Given the description of an element on the screen output the (x, y) to click on. 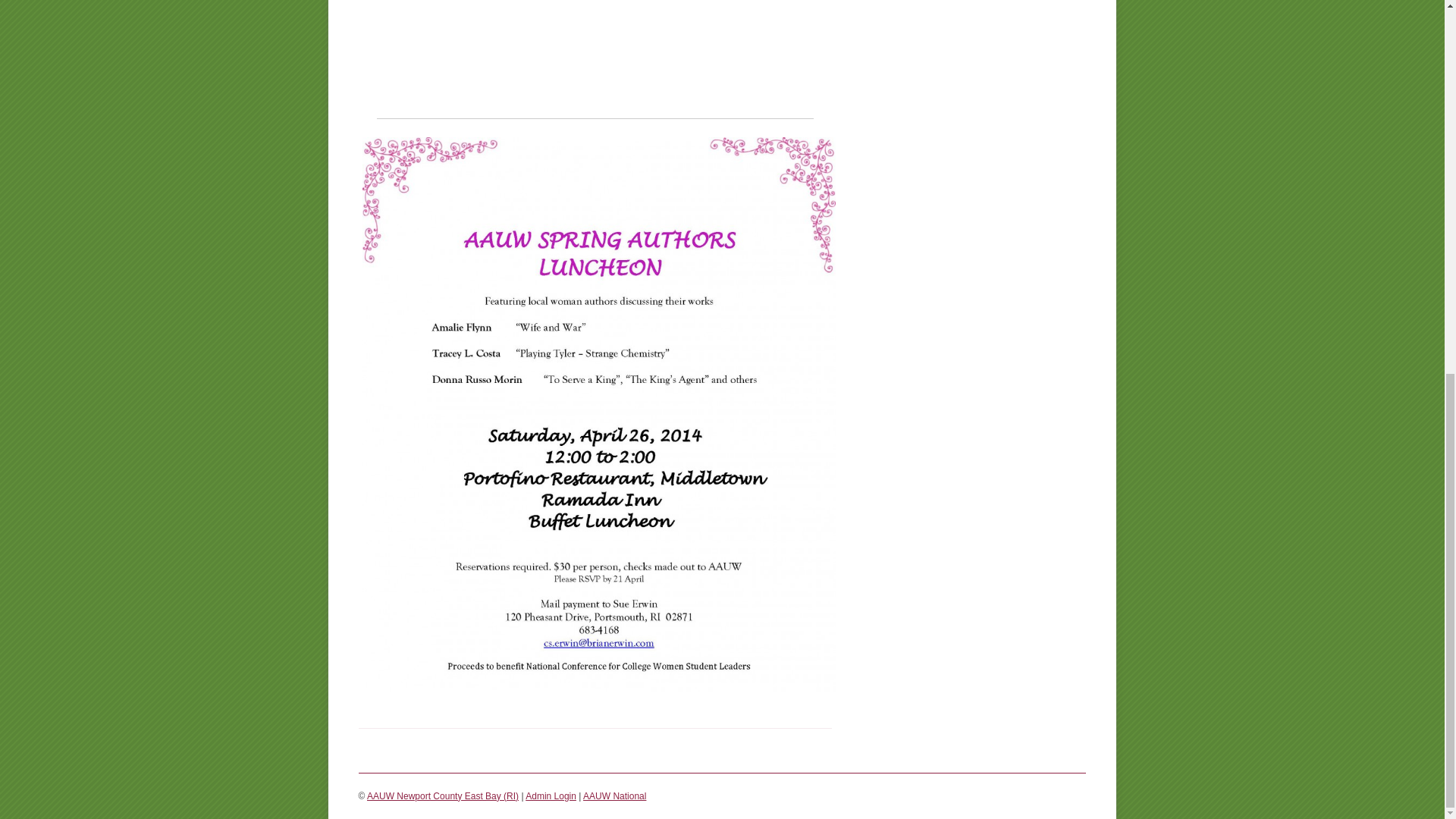
The Invisible War - Official Trailer (594, 38)
Admin Login (550, 796)
AAUW National (614, 796)
